Given the description of an element on the screen output the (x, y) to click on. 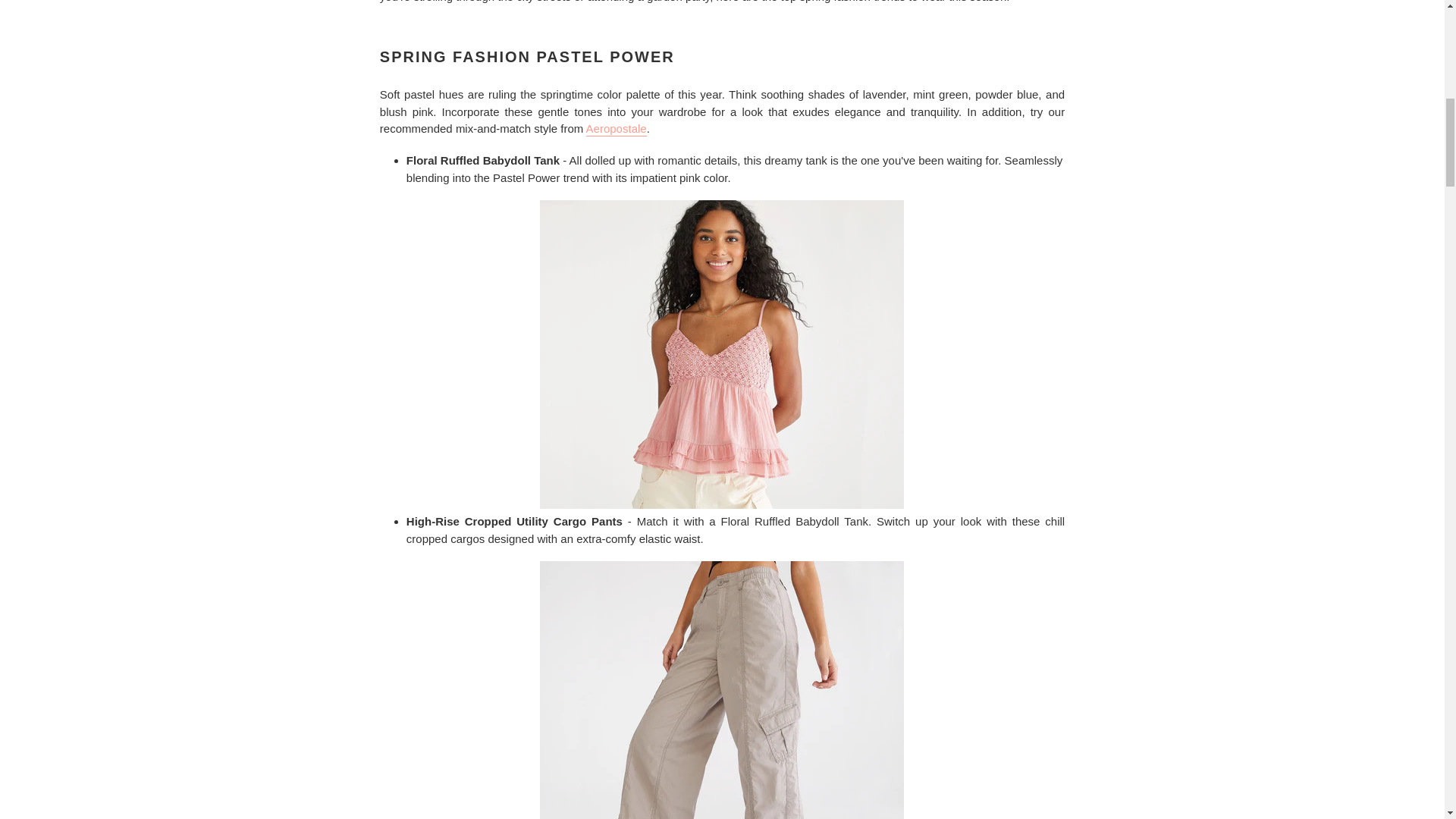
Aeropostale (616, 129)
Aeropostale (616, 129)
